Given the description of an element on the screen output the (x, y) to click on. 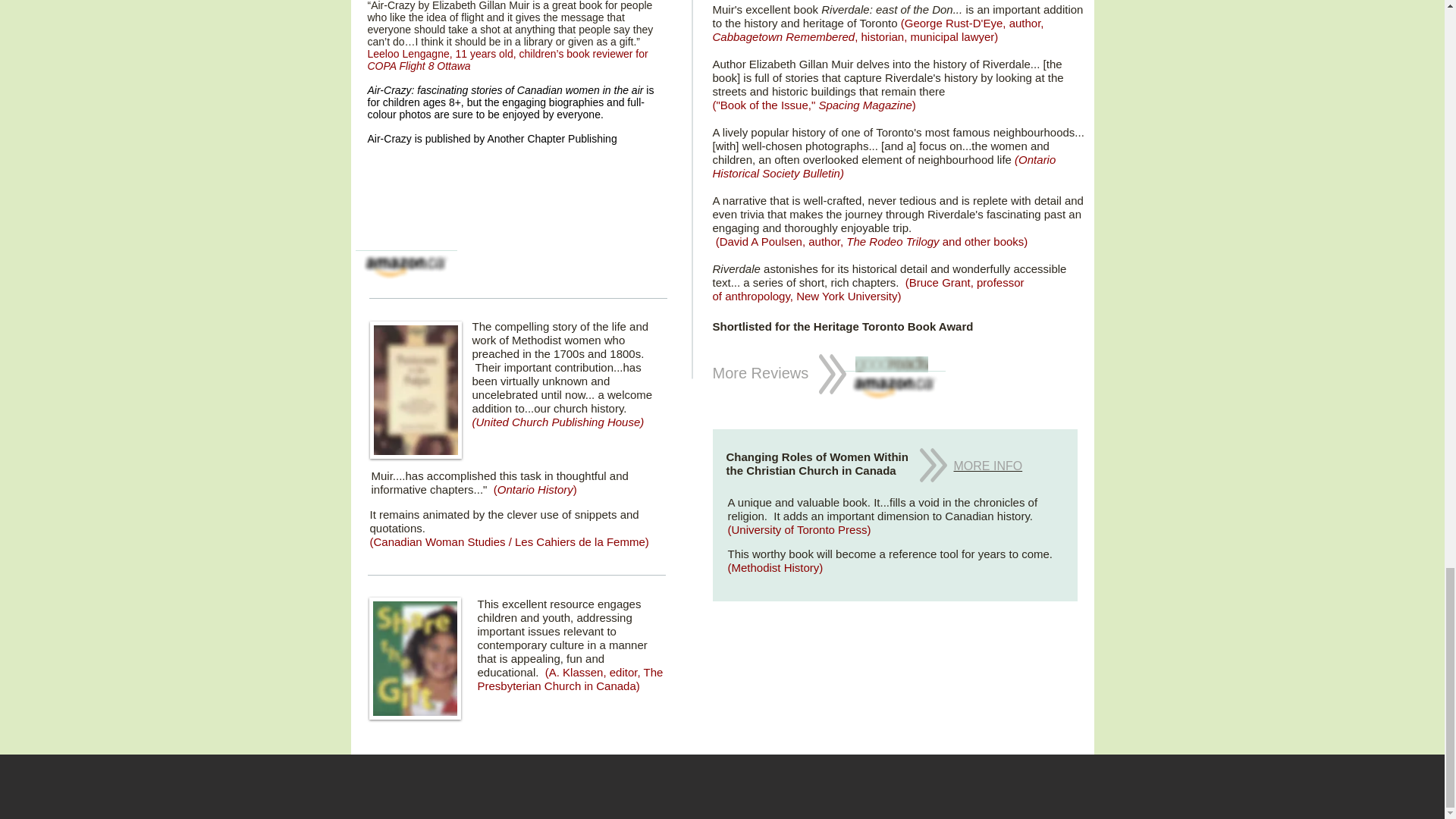
Amazon.ca logo.png (406, 267)
the Christian Church in Canada (811, 470)
Changing Roles of Women Within (817, 456)
Amazon.ca logo.png (893, 387)
MORE INFO (988, 465)
Share the Gift image.jpg (414, 658)
Petticots and Pulpit small.jpg (415, 389)
